Given the description of an element on the screen output the (x, y) to click on. 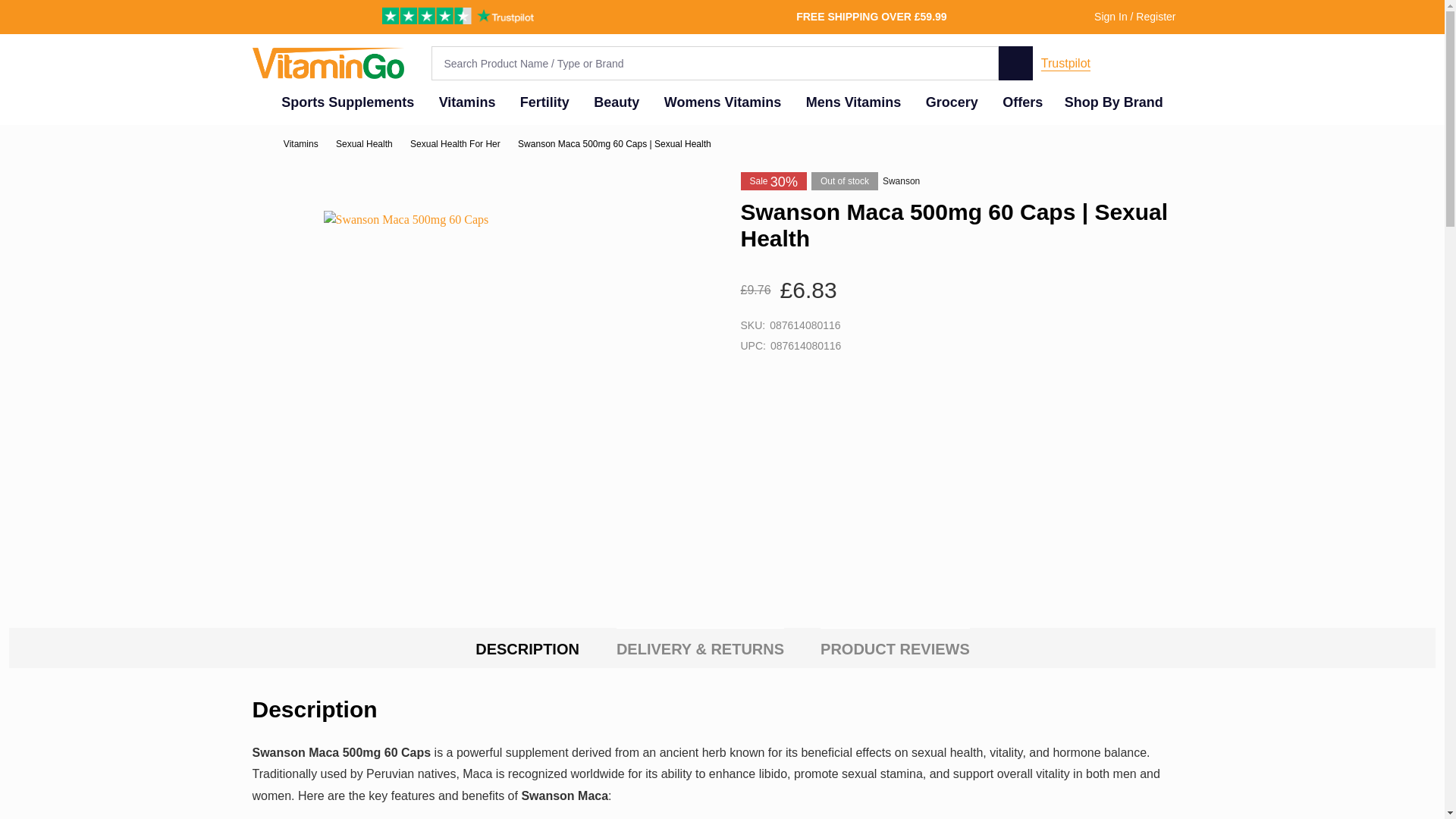
Sports Supplements (344, 102)
Call Us:  01332218320 (1134, 62)
SEARCH (1015, 62)
Vitamins (463, 102)
Trustpilot (1065, 62)
Cart (1182, 62)
